Given the description of an element on the screen output the (x, y) to click on. 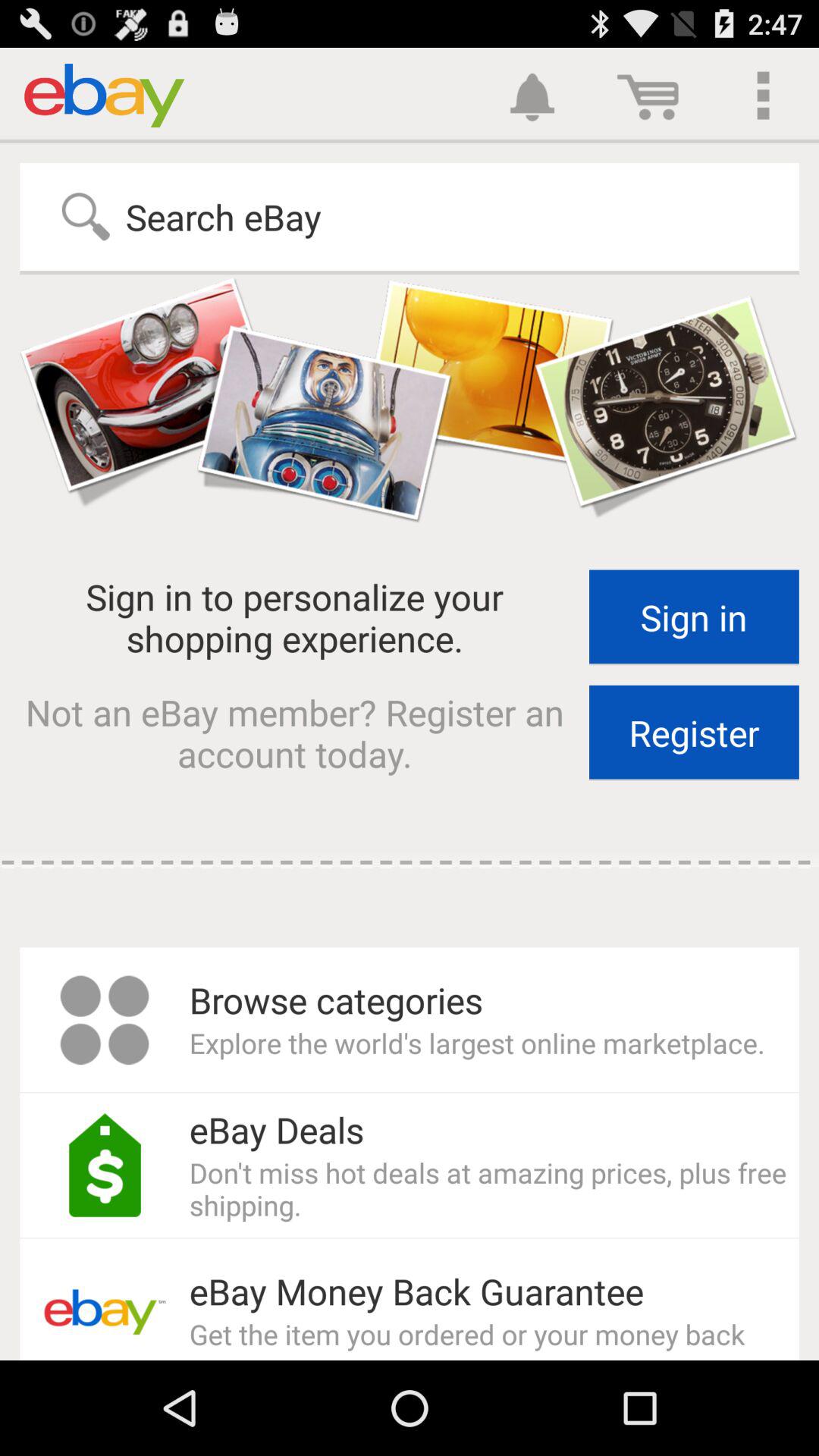
press search ebay item (186, 216)
